Given the description of an element on the screen output the (x, y) to click on. 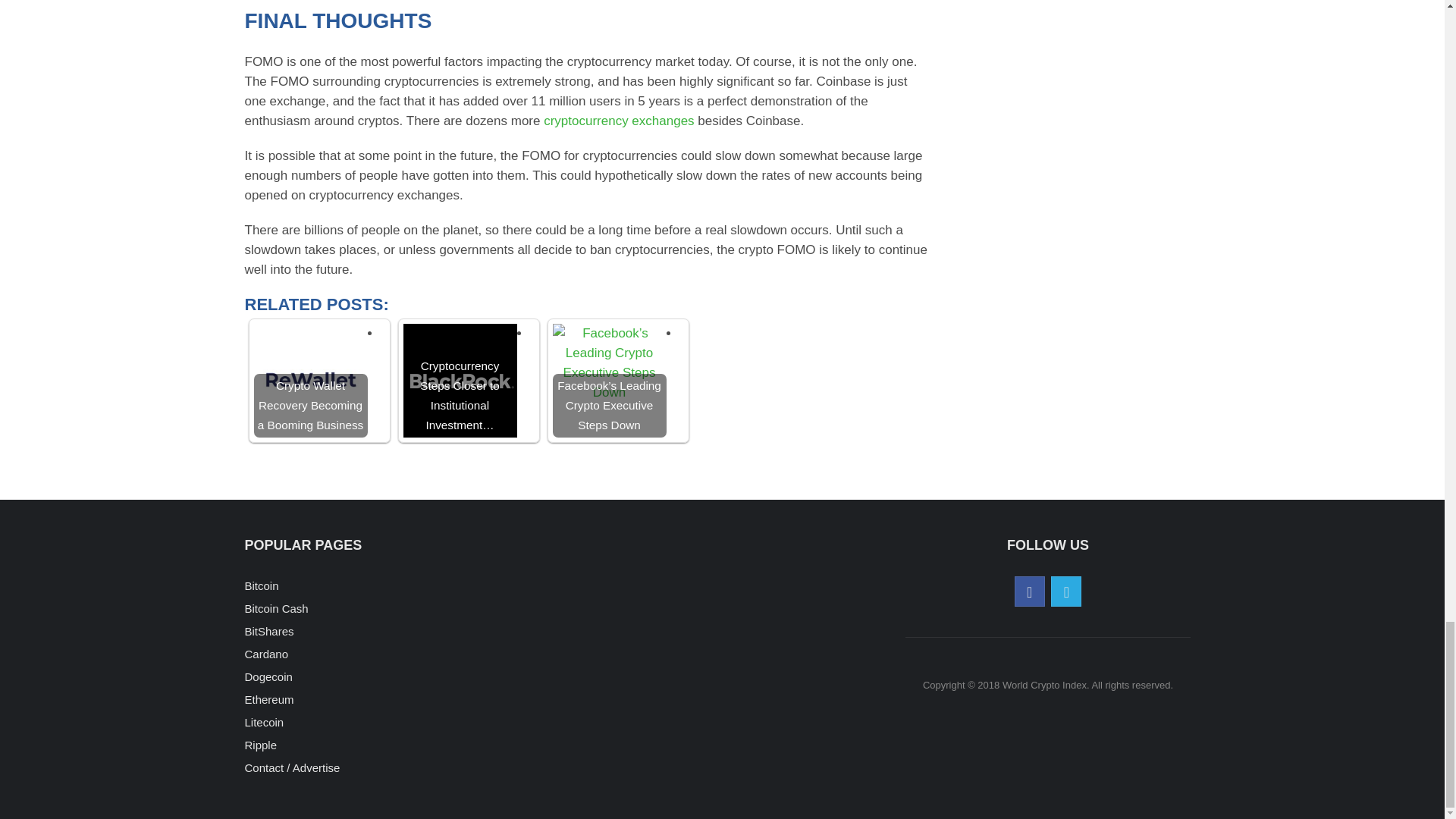
Ripple (260, 744)
BitShares (269, 631)
Cardano (266, 653)
Dogecoin (268, 676)
Litecoin (263, 721)
Crypto Wallet Recovery Becoming a Booming Business (309, 380)
Crypto Wallet Recovery Becoming a Booming Business (309, 380)
Bitcoin (261, 585)
Bitcoin Cash (275, 608)
Ethereum (269, 698)
cryptocurrency exchanges (618, 120)
